Given the description of an element on the screen output the (x, y) to click on. 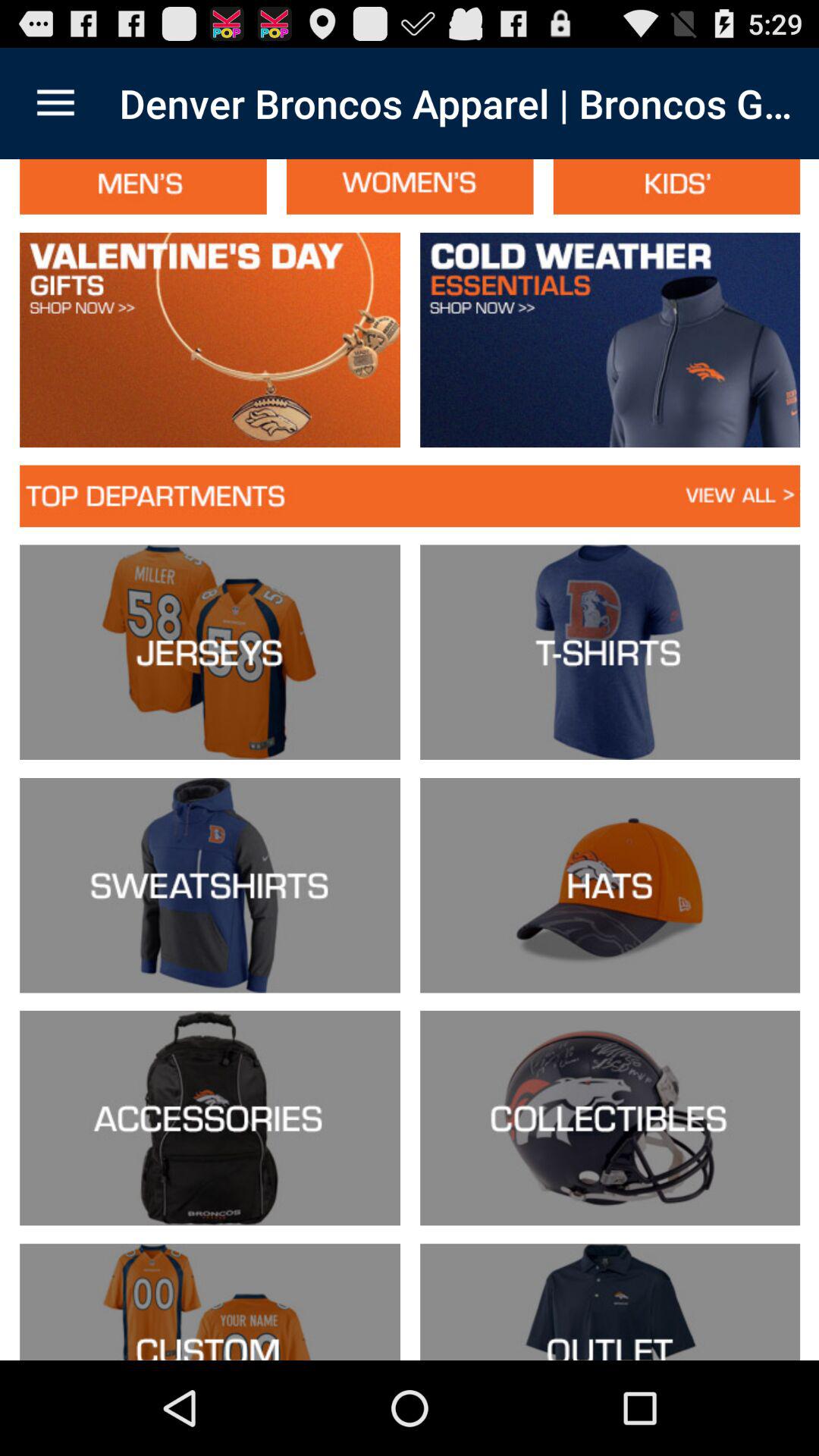
select the icon at the top left corner (55, 103)
